Given the description of an element on the screen output the (x, y) to click on. 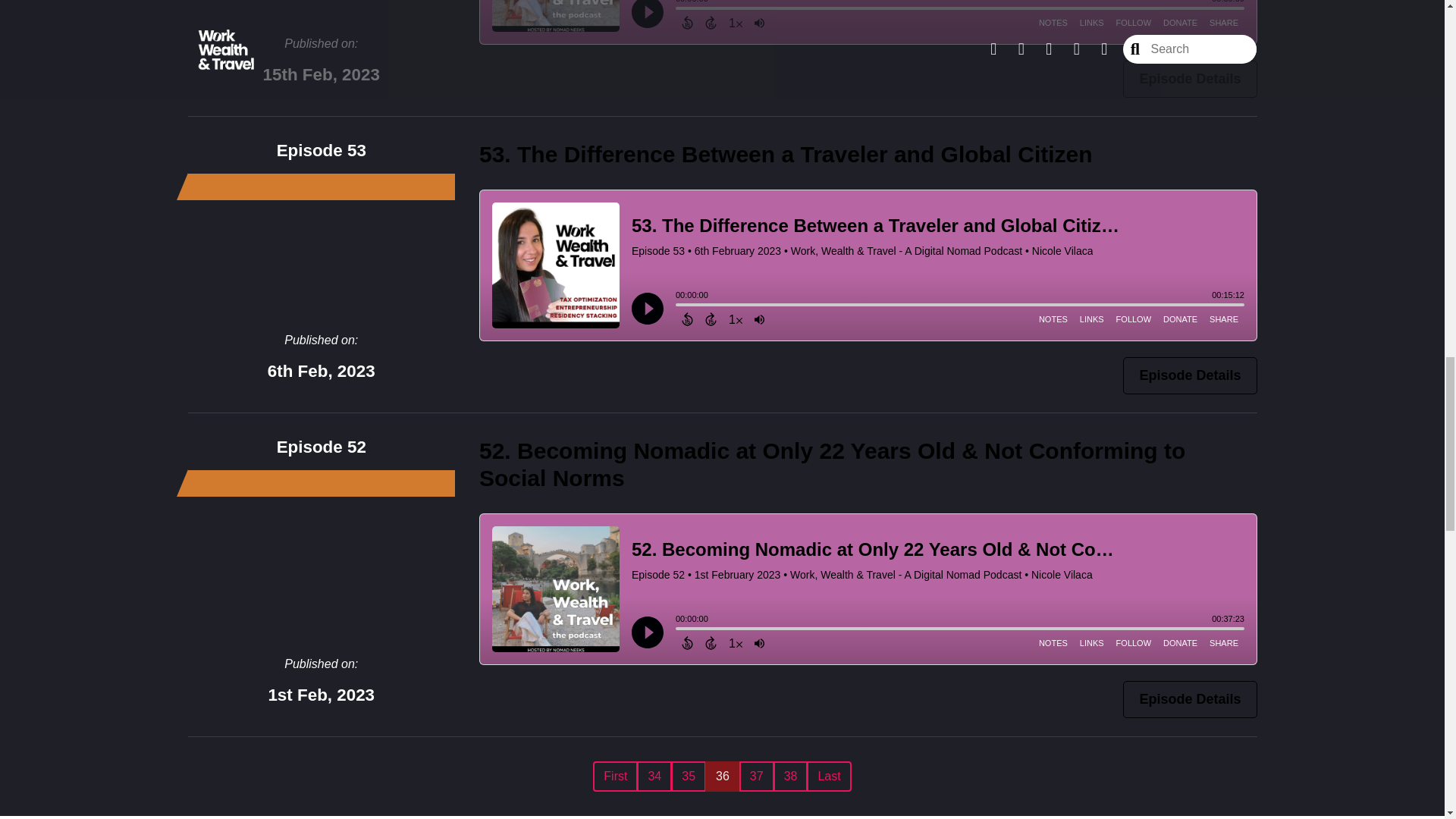
53. The Difference Between a Traveler and Global Citizen (786, 154)
Episode Details (1189, 78)
Last (828, 776)
37 (756, 776)
Episode Details (1189, 699)
34 (654, 776)
First (614, 776)
38 (790, 776)
Episode Details (1189, 375)
36 (721, 776)
35 (688, 776)
